Given the description of an element on the screen output the (x, y) to click on. 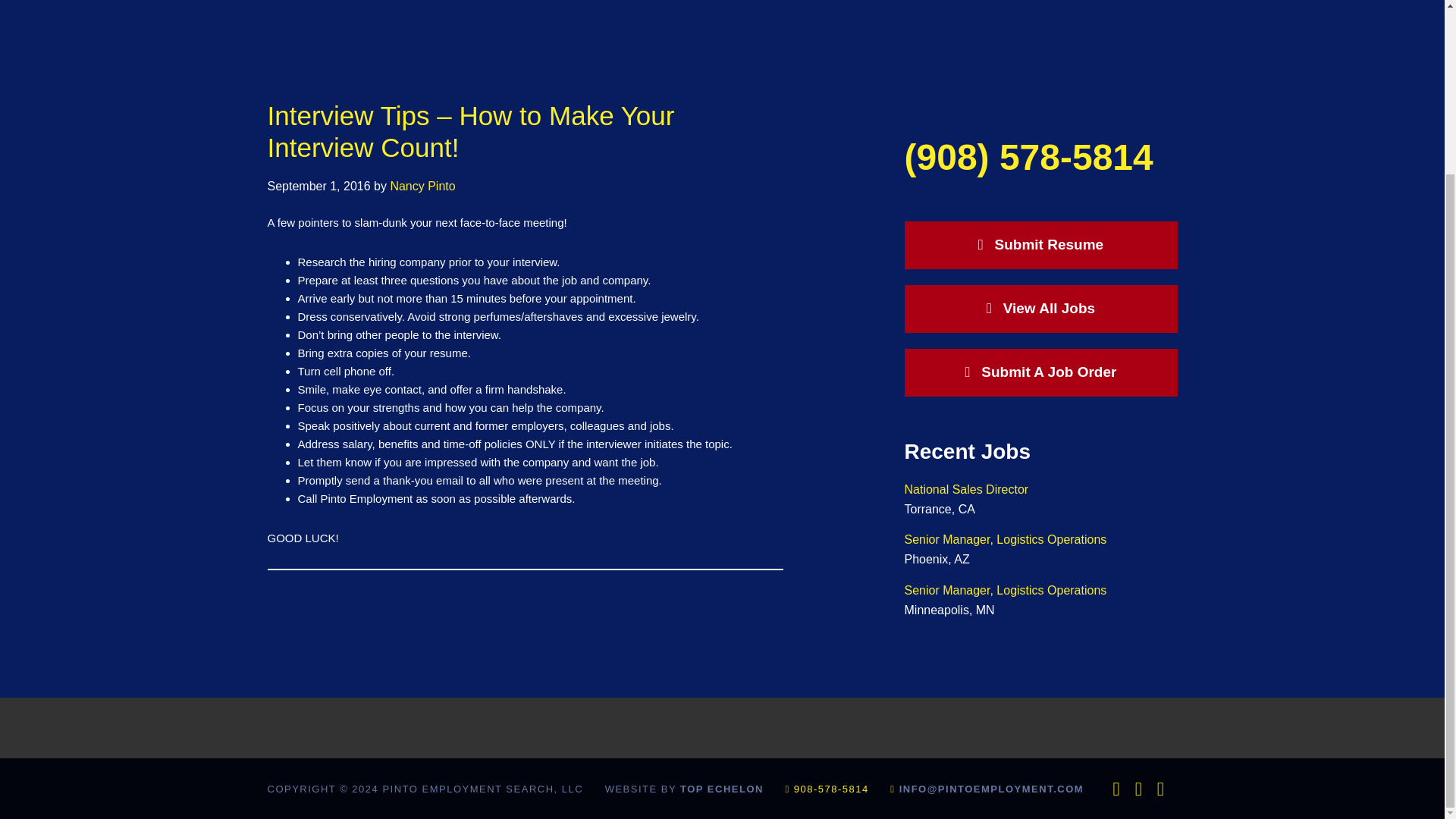
908-578-5814 (831, 788)
View All Jobs (1040, 308)
TOP ECHELON (720, 788)
Nancy Pinto (422, 185)
Submit A Job Order (1040, 372)
Senior Manager, Logistics Operations (1005, 539)
National Sales Director (965, 489)
Senior Manager, Logistics Operations (1005, 590)
Call Today (1028, 157)
Submit Resume (1040, 245)
